Given the description of an element on the screen output the (x, y) to click on. 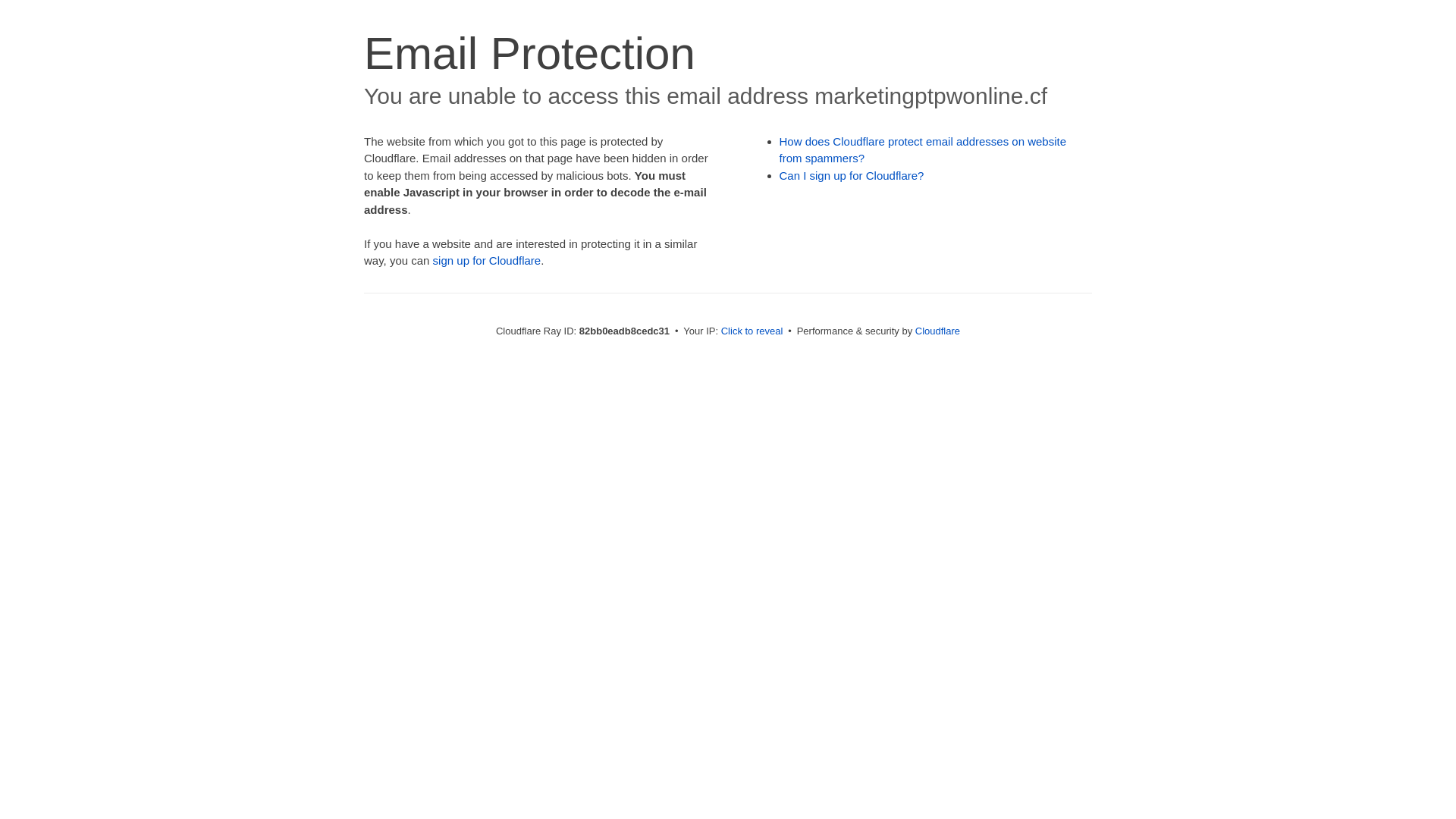
Cloudflare Element type: text (937, 330)
Click to reveal Element type: text (752, 330)
Can I sign up for Cloudflare? Element type: text (851, 175)
sign up for Cloudflare Element type: text (487, 260)
